Given the description of an element on the screen output the (x, y) to click on. 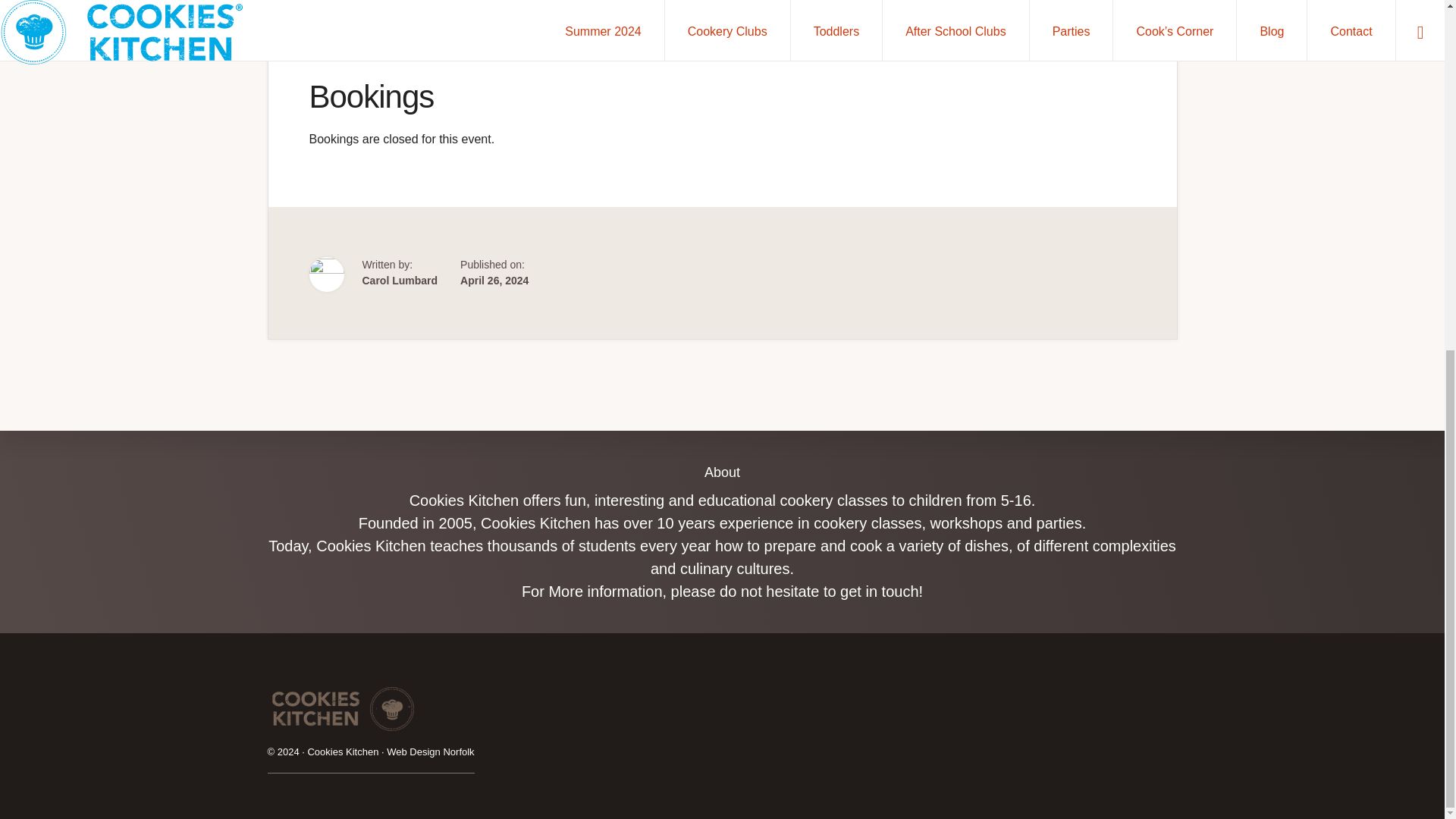
Web Design Norfolk (430, 145)
Cookies Kitchen (342, 145)
Carol Lumbard (400, 280)
Xpose Web Design (430, 145)
